Given the description of an element on the screen output the (x, y) to click on. 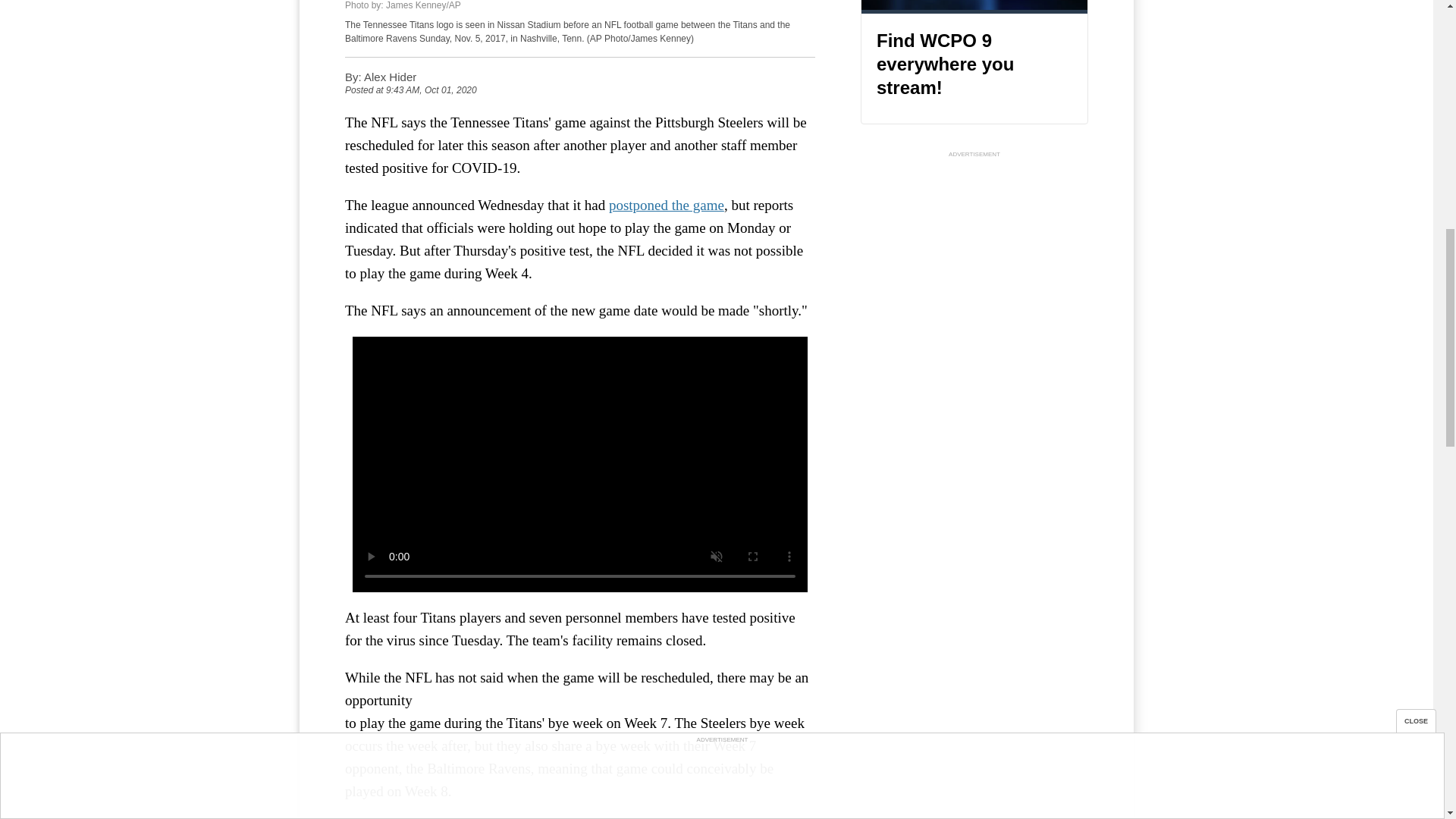
3rd party ad content (973, 256)
